Given the description of an element on the screen output the (x, y) to click on. 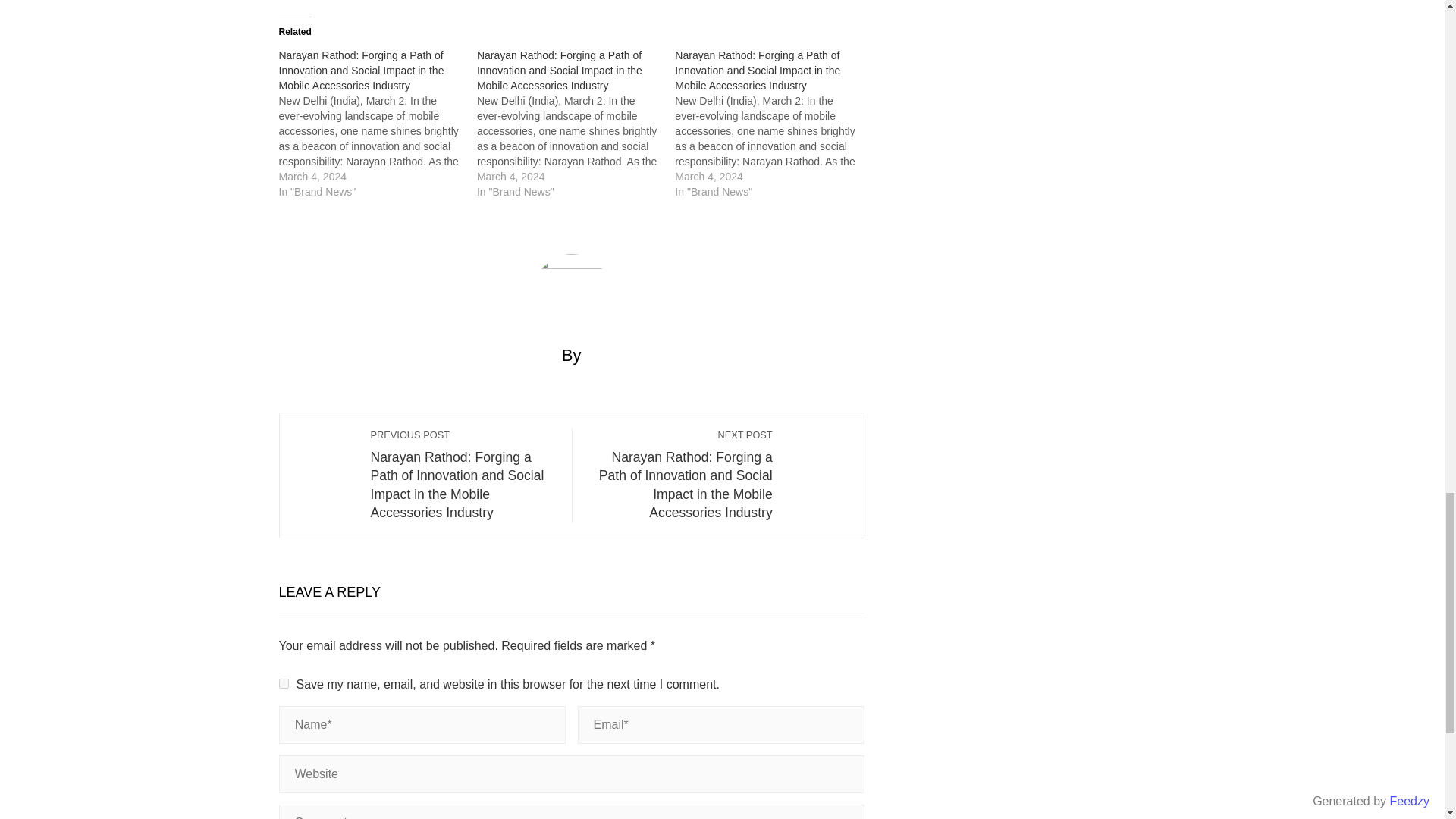
yes (283, 683)
